Given the description of an element on the screen output the (x, y) to click on. 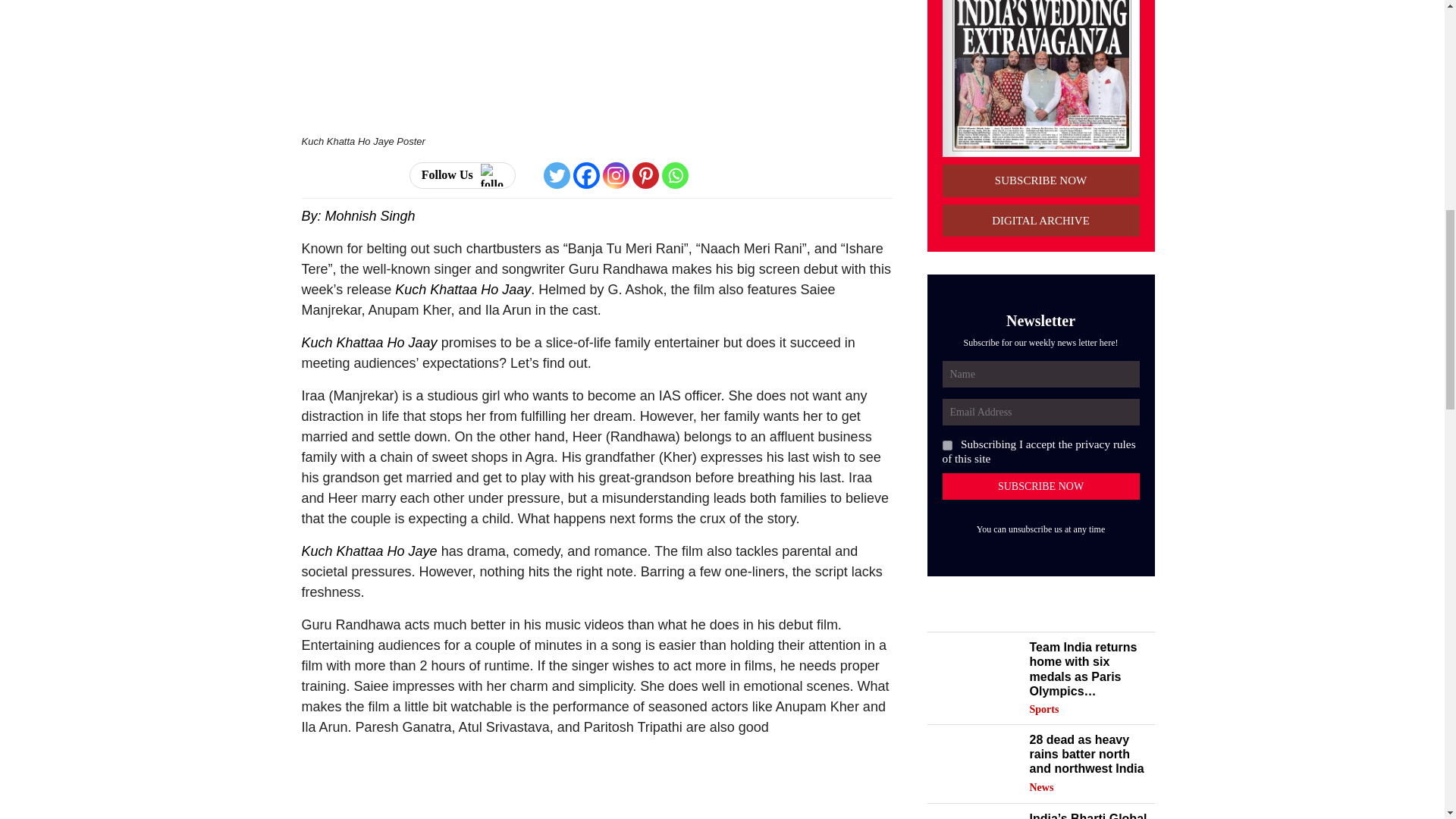
Subscribe Now (1040, 486)
Whatsapp (675, 175)
Twitter (556, 175)
Pinterest (645, 175)
Instagram (615, 175)
on (947, 445)
Facebook (586, 175)
